Given the description of an element on the screen output the (x, y) to click on. 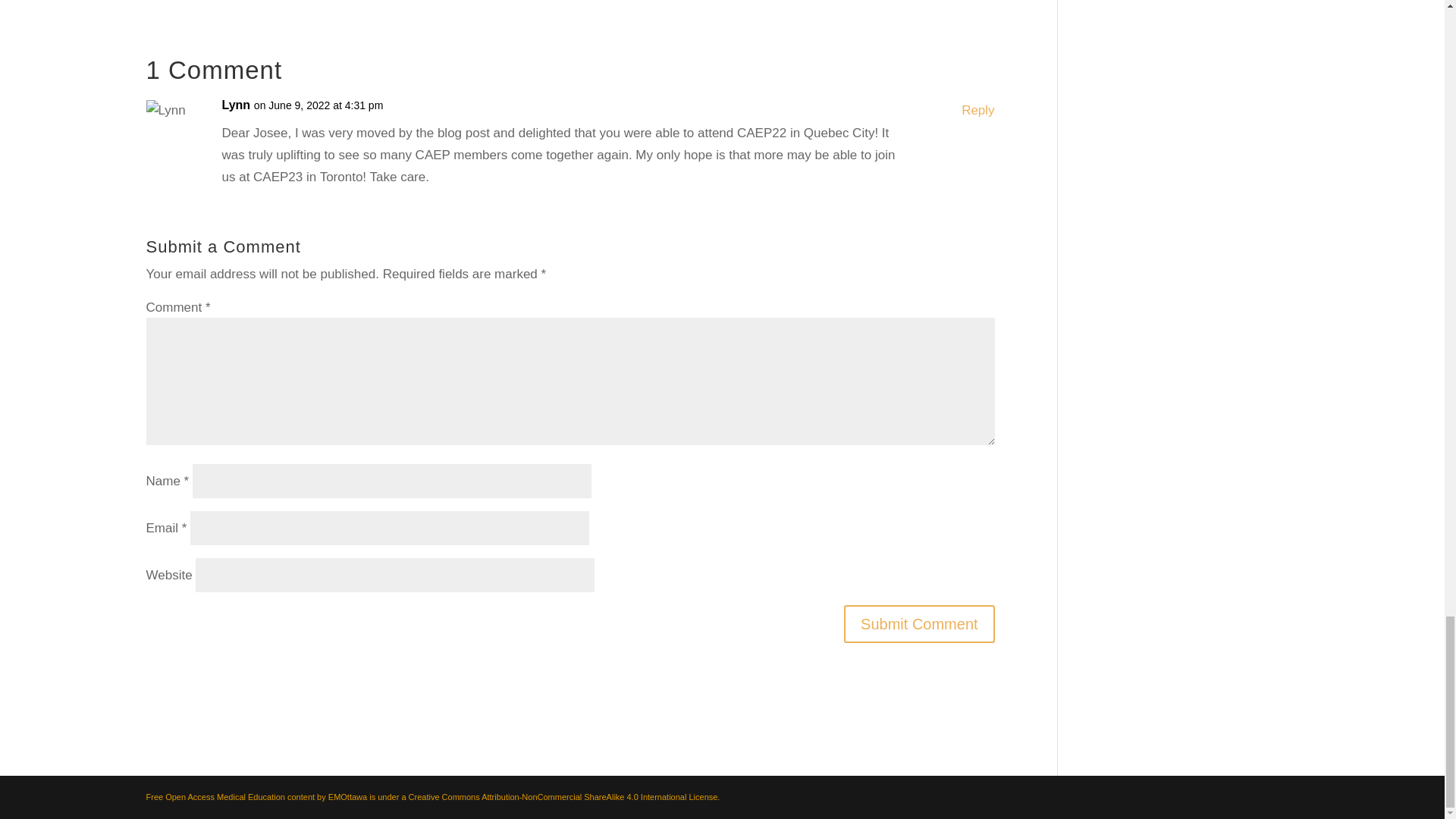
Reply (977, 110)
Submit Comment (919, 623)
Submit Comment (919, 623)
